Given the description of an element on the screen output the (x, y) to click on. 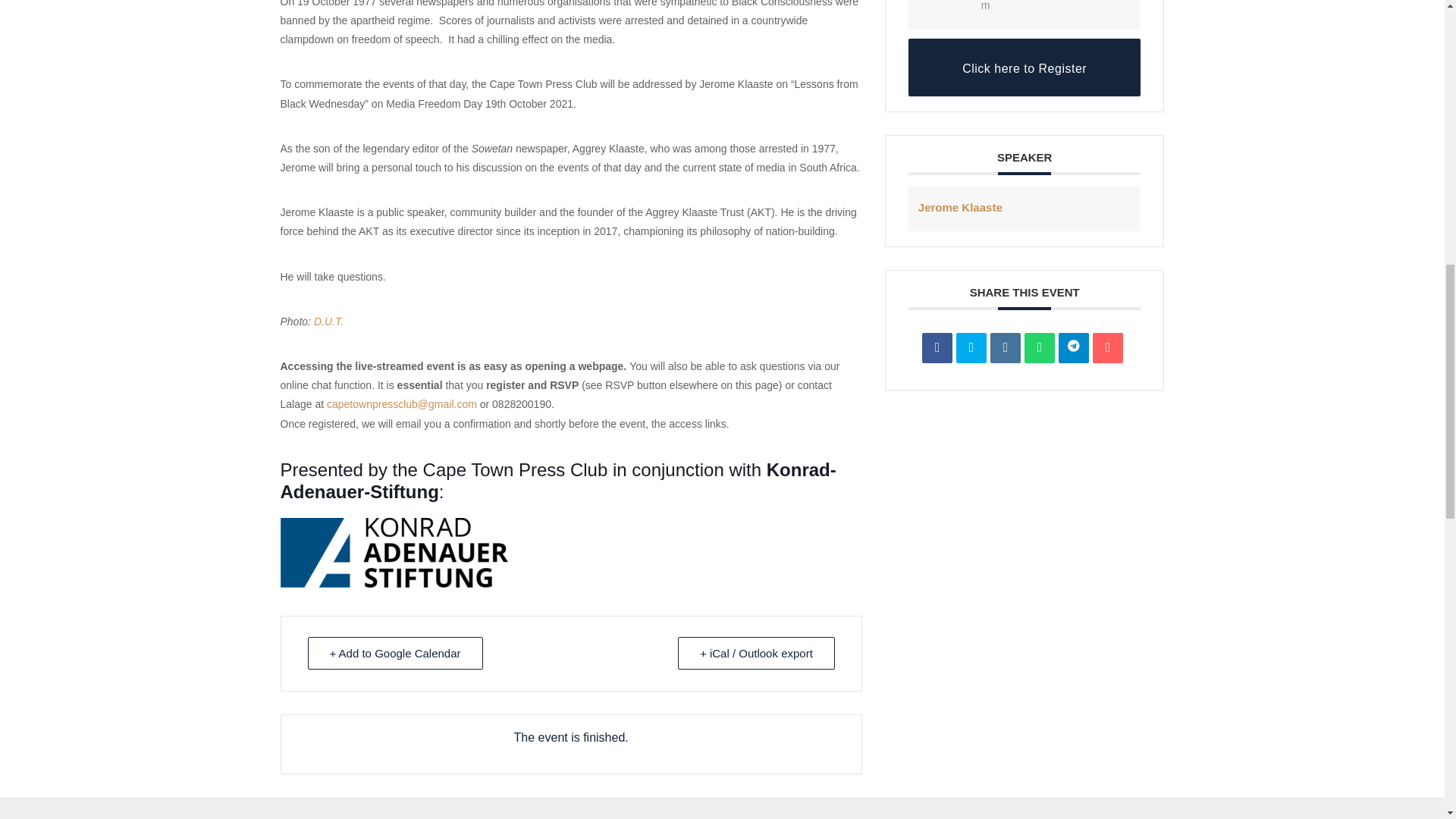
Share on WhatsApp (1039, 347)
Share on Facebook (936, 347)
Tweet (971, 347)
Linkedin (1005, 347)
Share on Telegram (1073, 347)
Email (1107, 347)
